Given the description of an element on the screen output the (x, y) to click on. 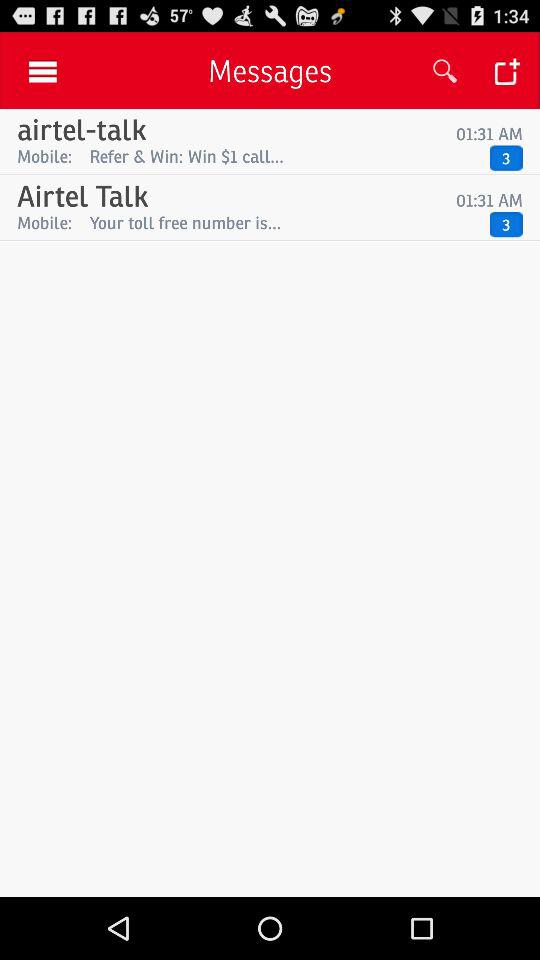
choose the icon to the left of 3 (284, 222)
